Given the description of an element on the screen output the (x, y) to click on. 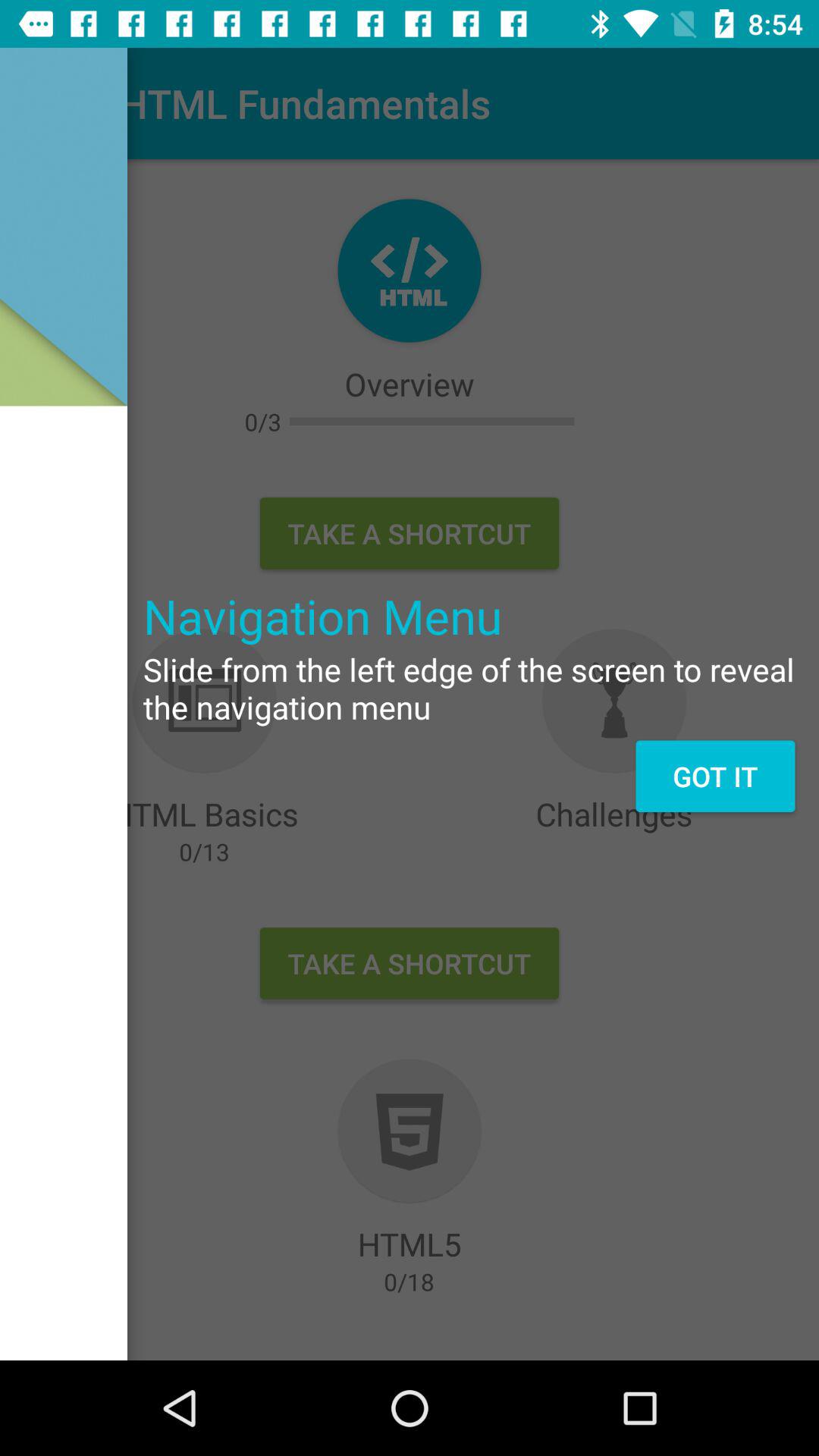
open the got it on the right (715, 776)
